Given the description of an element on the screen output the (x, y) to click on. 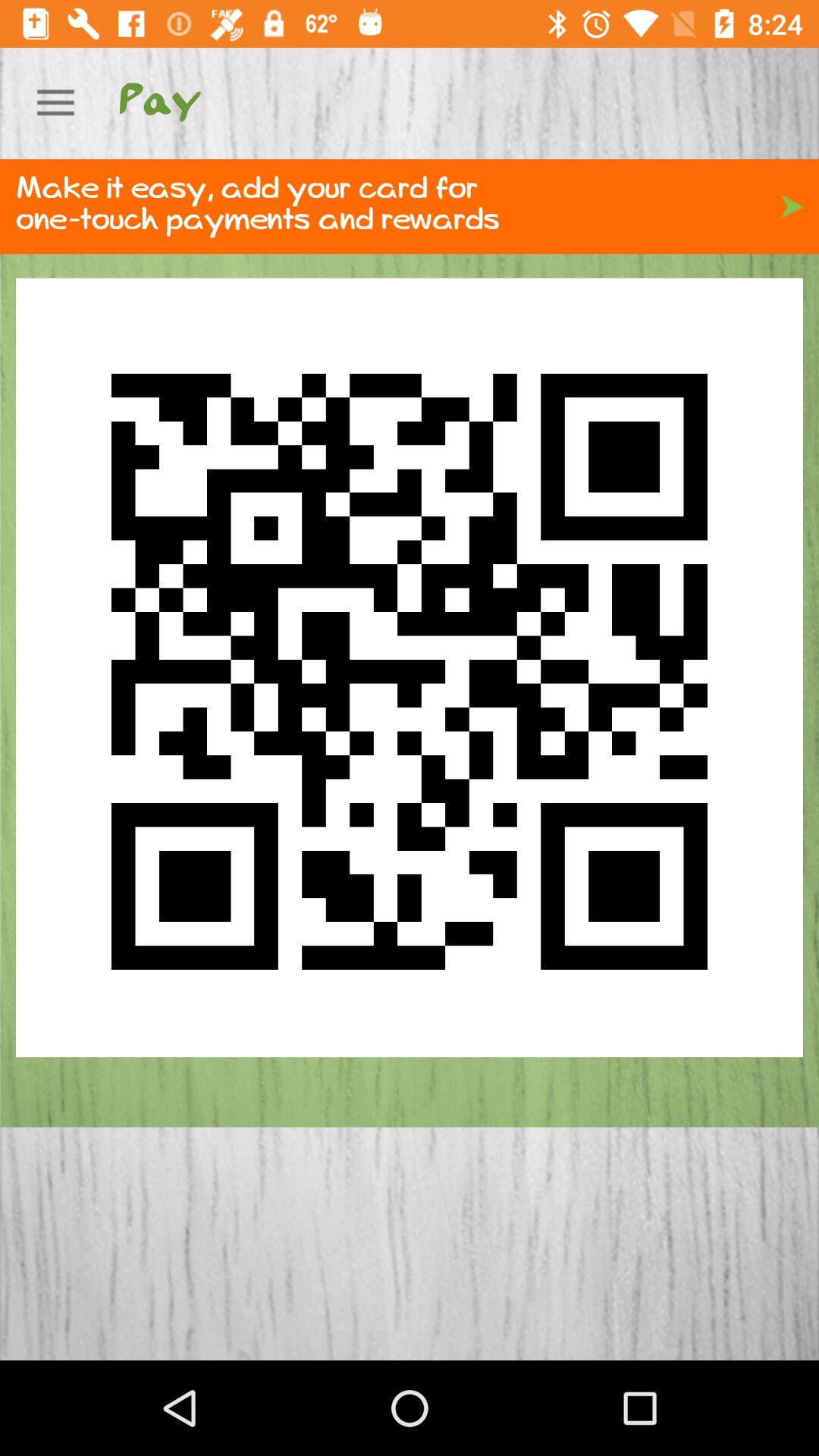
launch the item to the left of the pay item (55, 103)
